Given the description of an element on the screen output the (x, y) to click on. 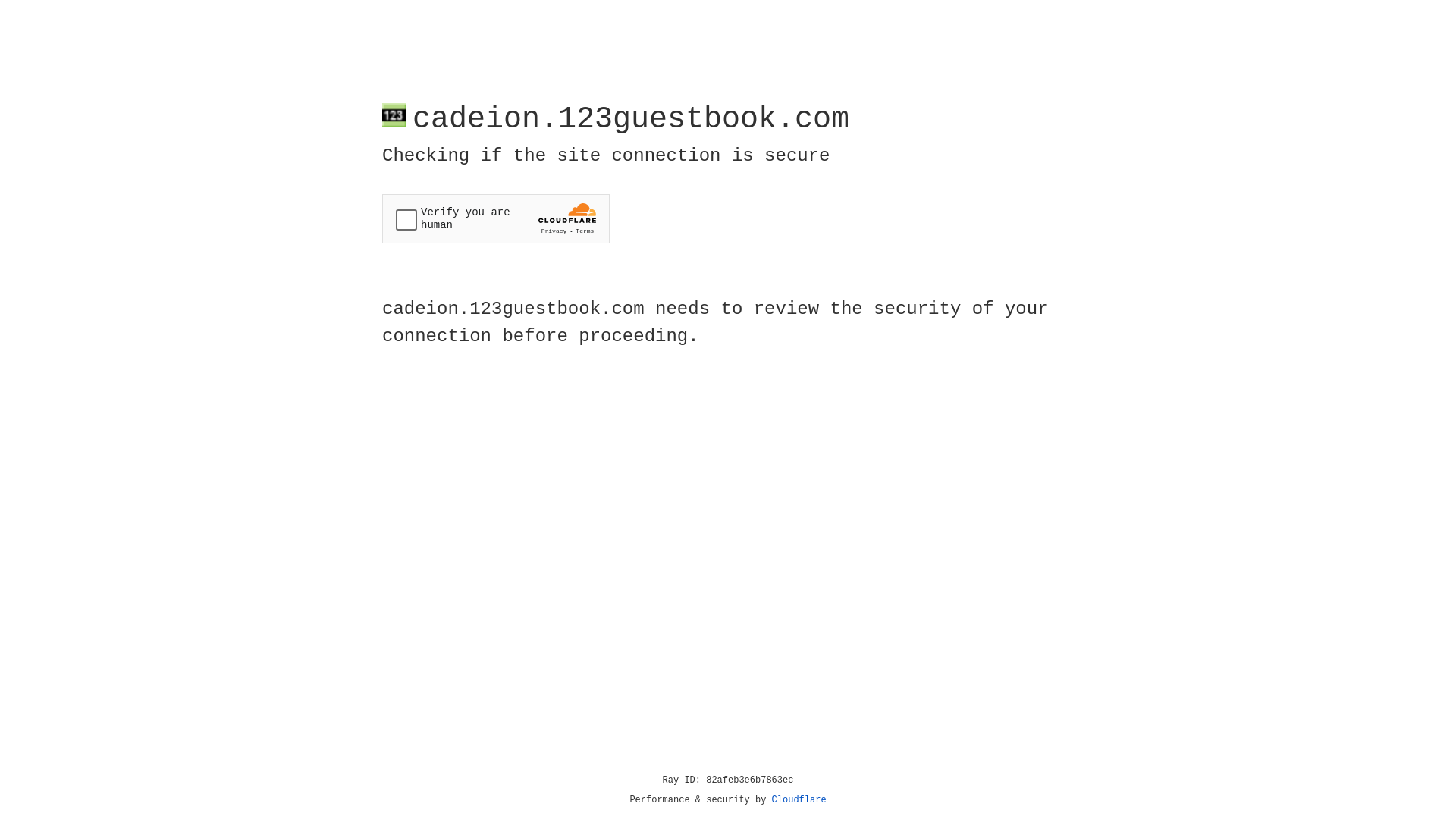
Widget containing a Cloudflare security challenge Element type: hover (495, 218)
Cloudflare Element type: text (798, 799)
